Given the description of an element on the screen output the (x, y) to click on. 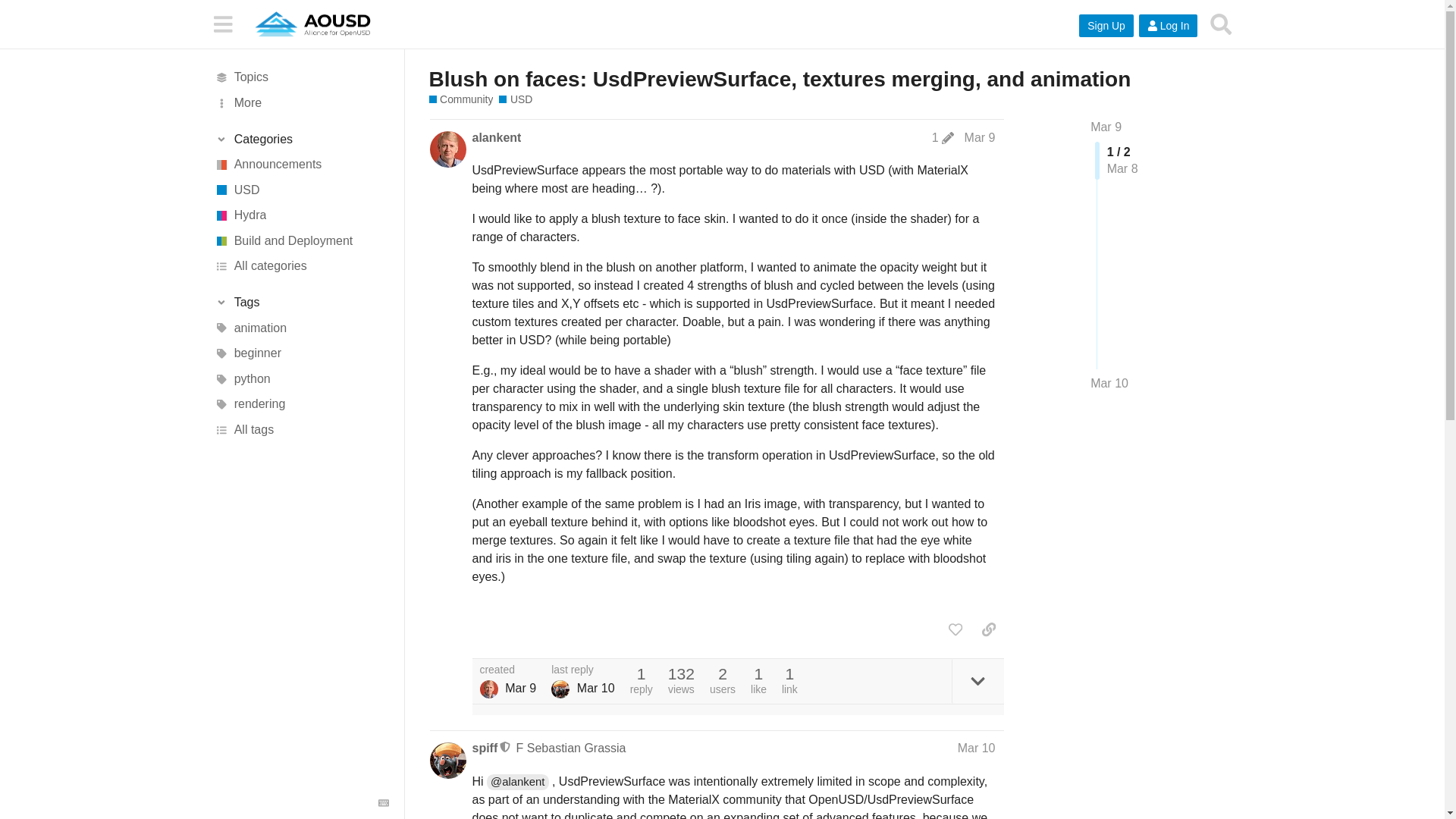
Search (1220, 23)
rendering (301, 404)
All tags (301, 429)
Mar 10 (1109, 383)
Jump to the first post (1105, 126)
Hydra (301, 216)
Toggle section (301, 302)
USD (515, 99)
last reply (582, 670)
alankent (496, 137)
Jump to the last post (1109, 382)
All categories (301, 266)
